Given the description of an element on the screen output the (x, y) to click on. 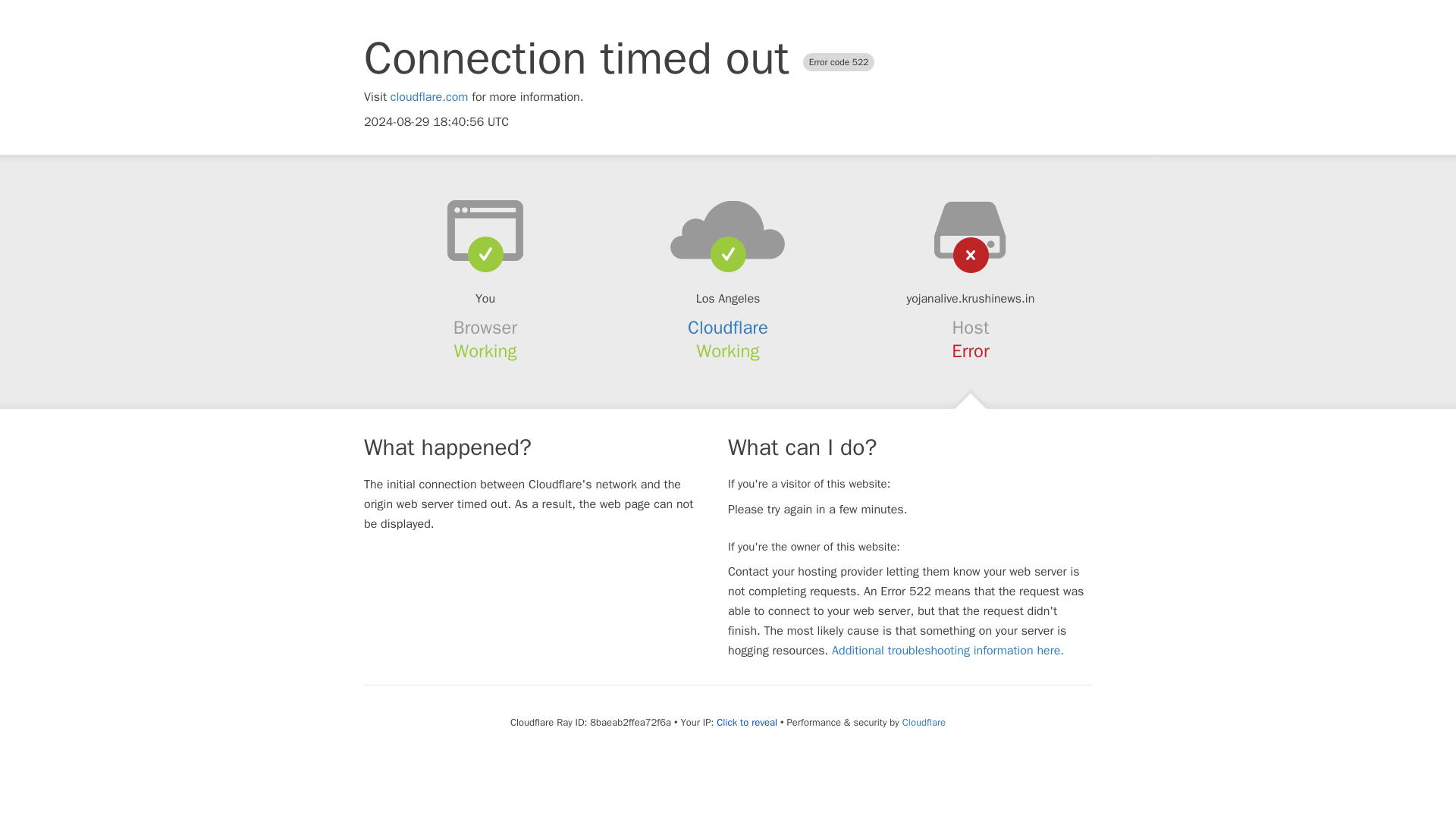
Cloudflare (923, 721)
Additional troubleshooting information here. (947, 650)
Click to reveal (746, 722)
Cloudflare (727, 327)
cloudflare.com (429, 96)
